Given the description of an element on the screen output the (x, y) to click on. 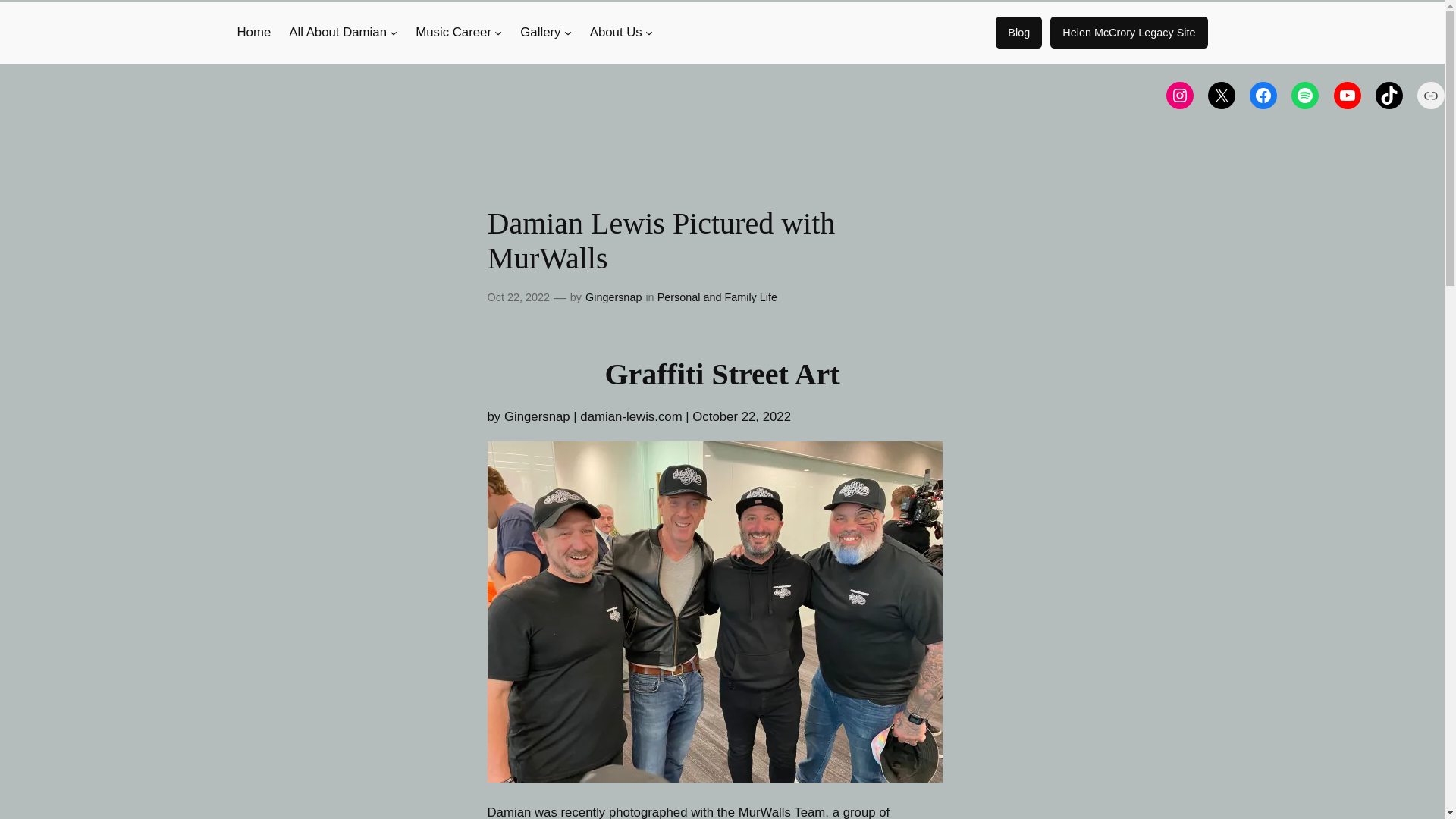
Gallery (539, 32)
Home (252, 32)
Music Career (453, 32)
All About Damian (337, 32)
About Us (615, 32)
